Given the description of an element on the screen output the (x, y) to click on. 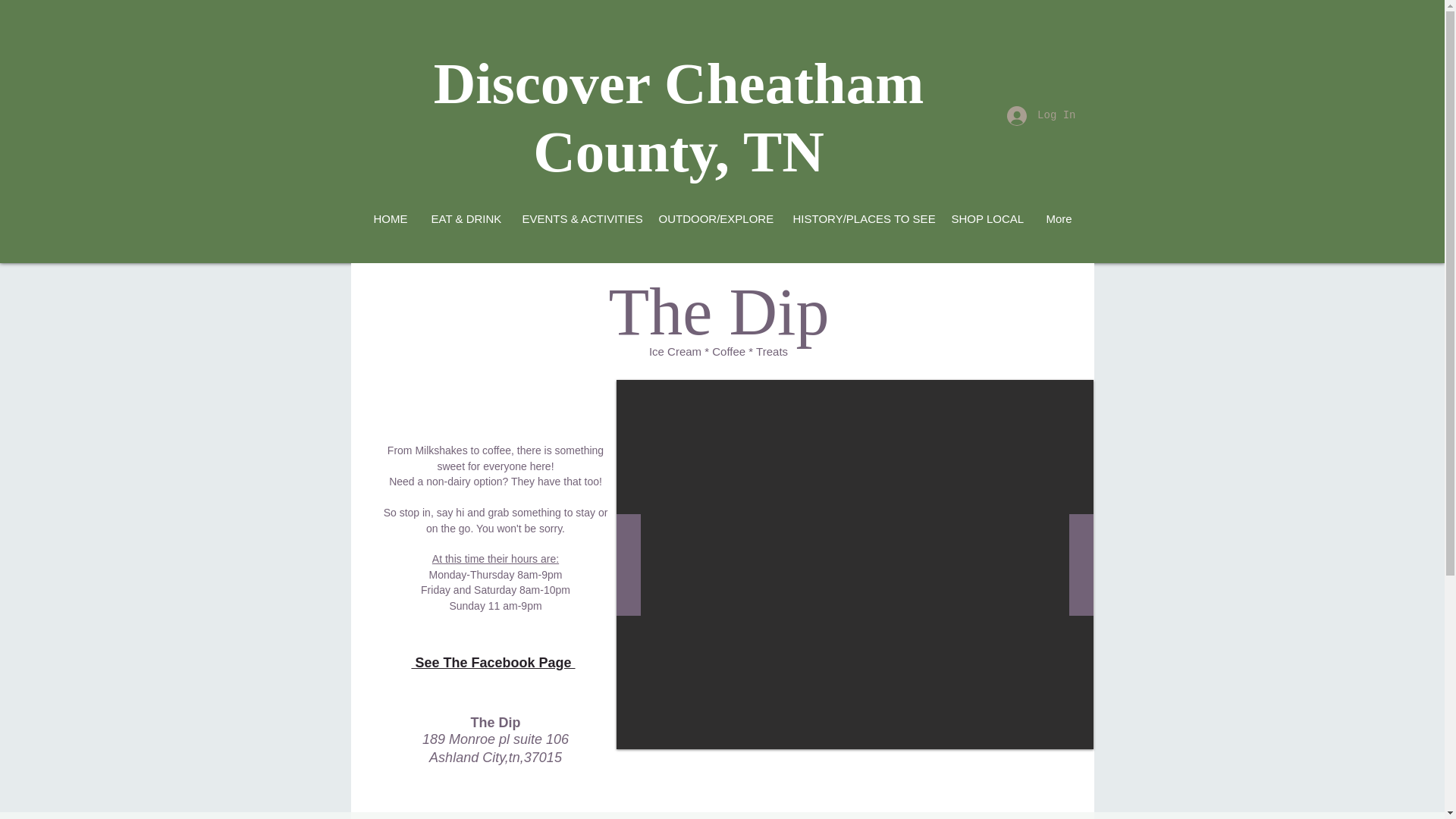
HOME (390, 219)
Log In (1040, 115)
Discover Cheatham County, TN (678, 117)
 See The Facebook Page  (492, 662)
